Given the description of an element on the screen output the (x, y) to click on. 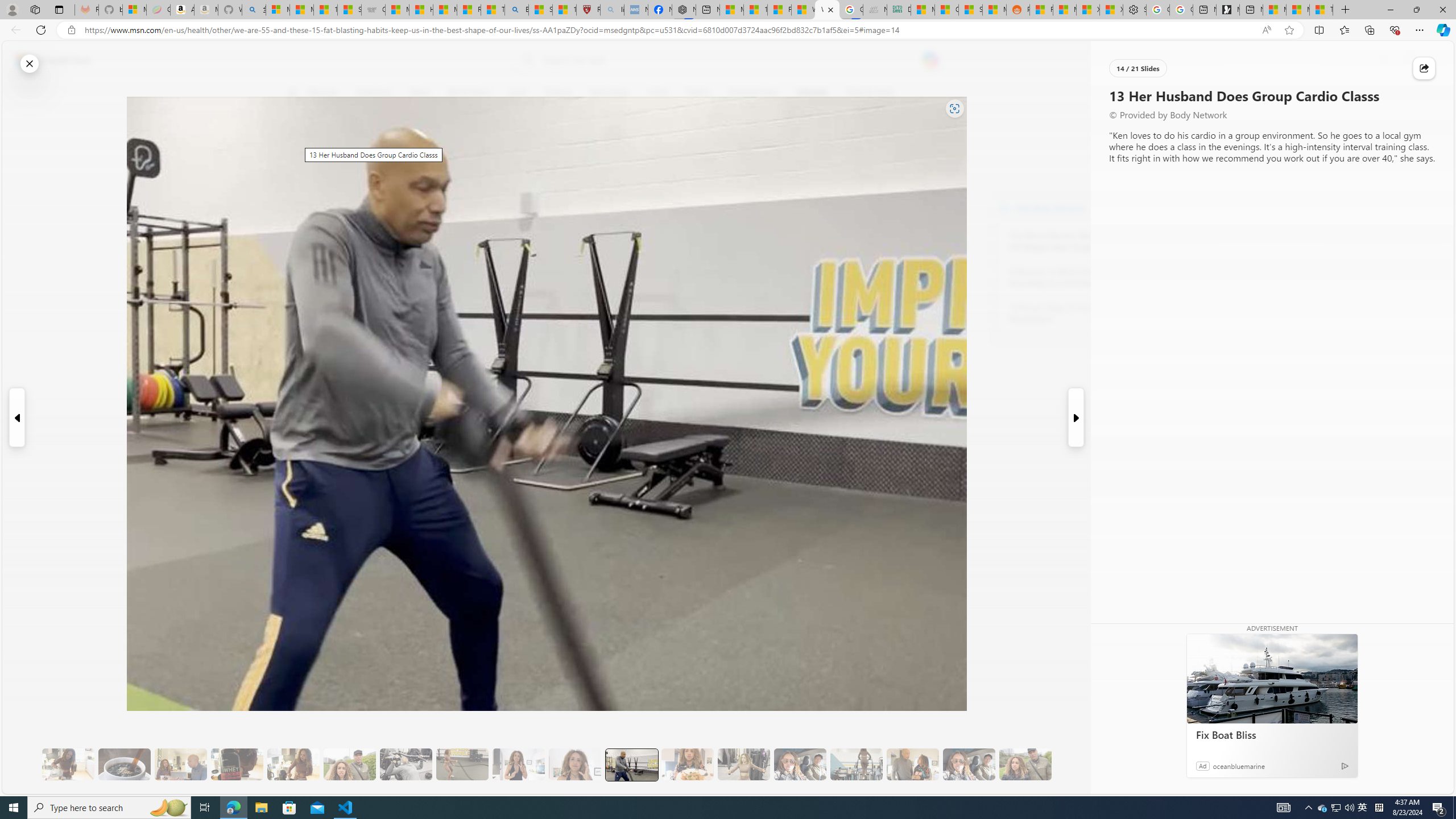
How I Got Rid of Microsoft Edge's Unnecessary Features (421, 9)
18 It's More Fun Doing It with Someone Else (912, 764)
15 They Also Indulge in a Low-Calorie Sweet Treat (743, 764)
15 They Also Indulge in a Low-Calorie Sweet Treat (743, 764)
8 Reasons to Drink Kombucha, According to a Nutritionist (1071, 277)
Enter your search term (730, 59)
